Given the description of an element on the screen output the (x, y) to click on. 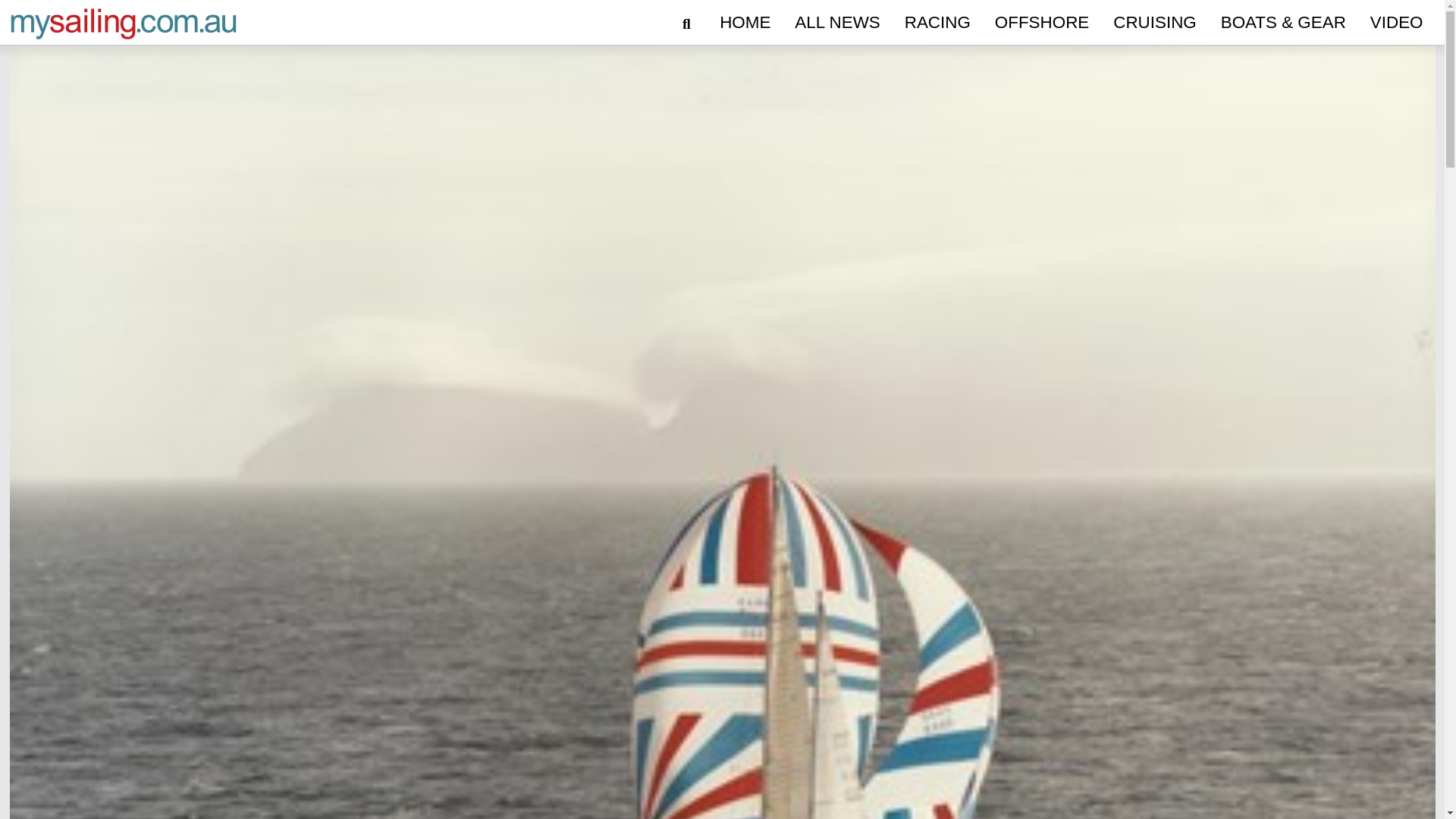
VIDEO (1396, 22)
All News (837, 22)
Offshore (1041, 22)
Video (1396, 22)
HOME (744, 22)
ALL NEWS (837, 22)
Racing (937, 22)
Cruising (1154, 22)
CRUISING (1154, 22)
Home (744, 22)
RACING (937, 22)
OFFSHORE (1041, 22)
